Given the description of an element on the screen output the (x, y) to click on. 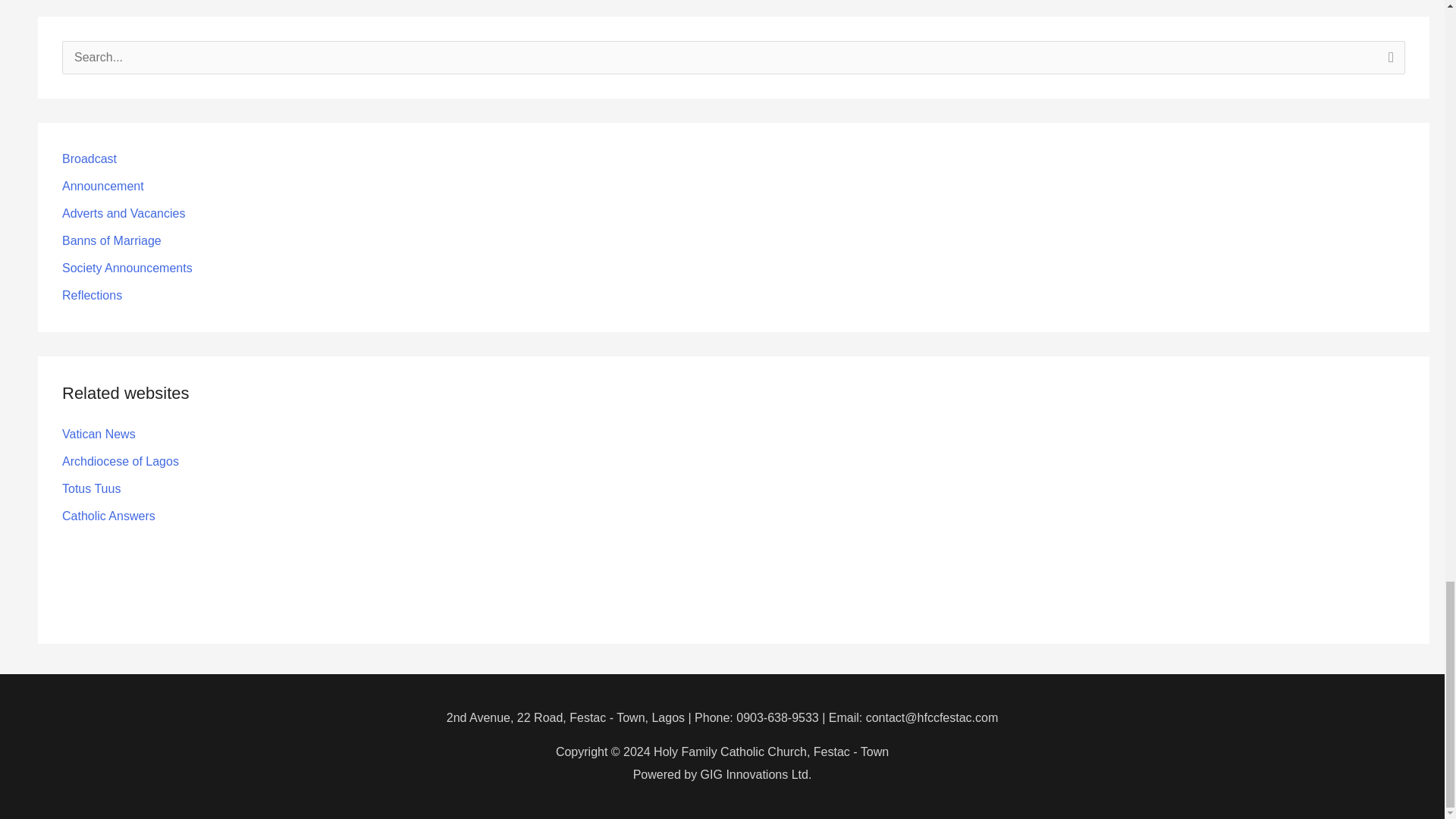
Adverts and Vacancies (123, 213)
Totus Tuus (91, 488)
Archdiocese of Lagos (120, 461)
Vatican News (98, 433)
Announcement (103, 185)
Catholic Answers (108, 515)
Society Announcements (127, 267)
Broadcast (89, 158)
Reflections (92, 295)
Banns of Marriage (111, 240)
